Given the description of an element on the screen output the (x, y) to click on. 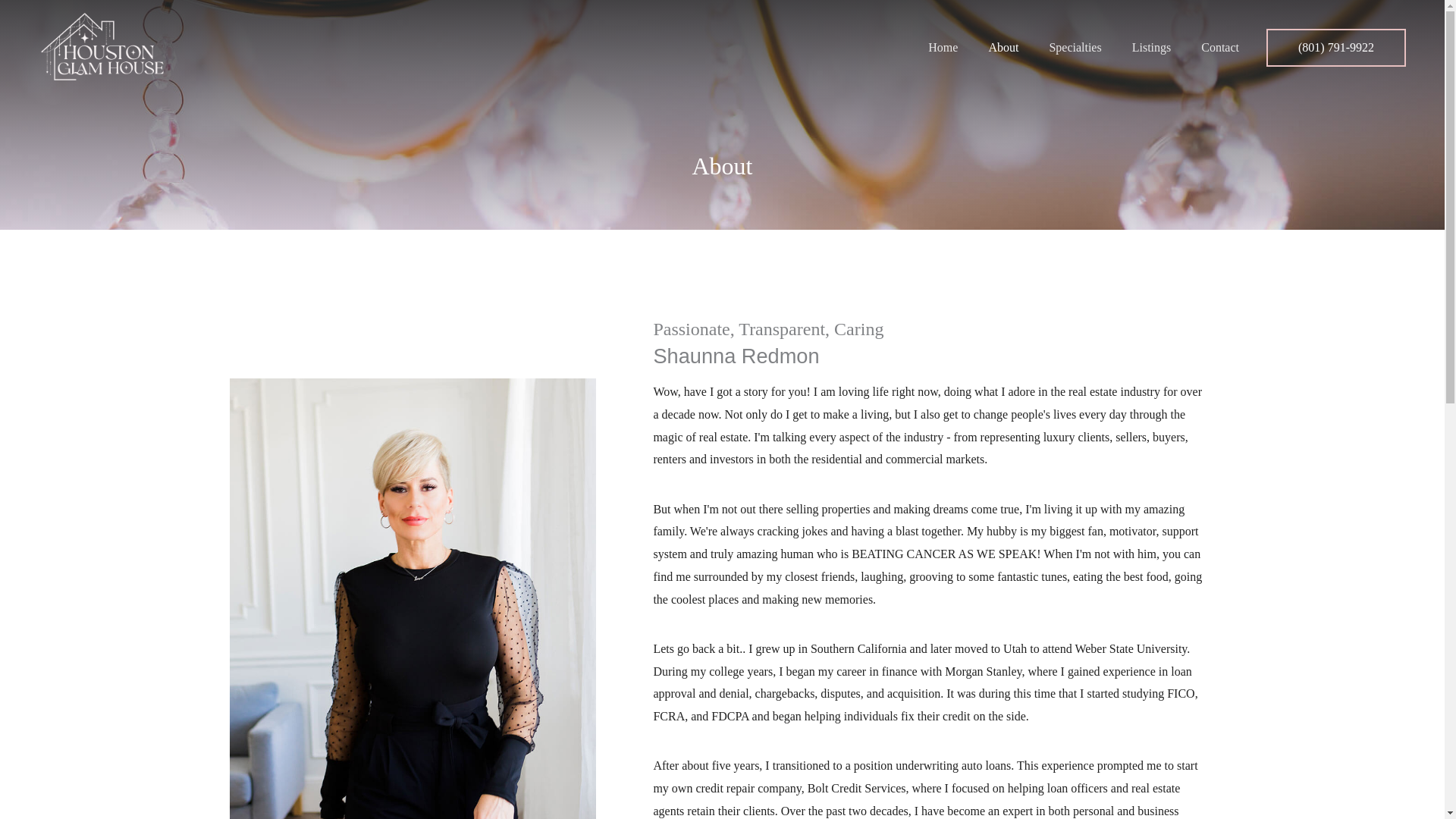
Home (942, 47)
Specialties (1074, 47)
Contact (1219, 47)
Listings (1151, 47)
About (1002, 47)
